Given the description of an element on the screen output the (x, y) to click on. 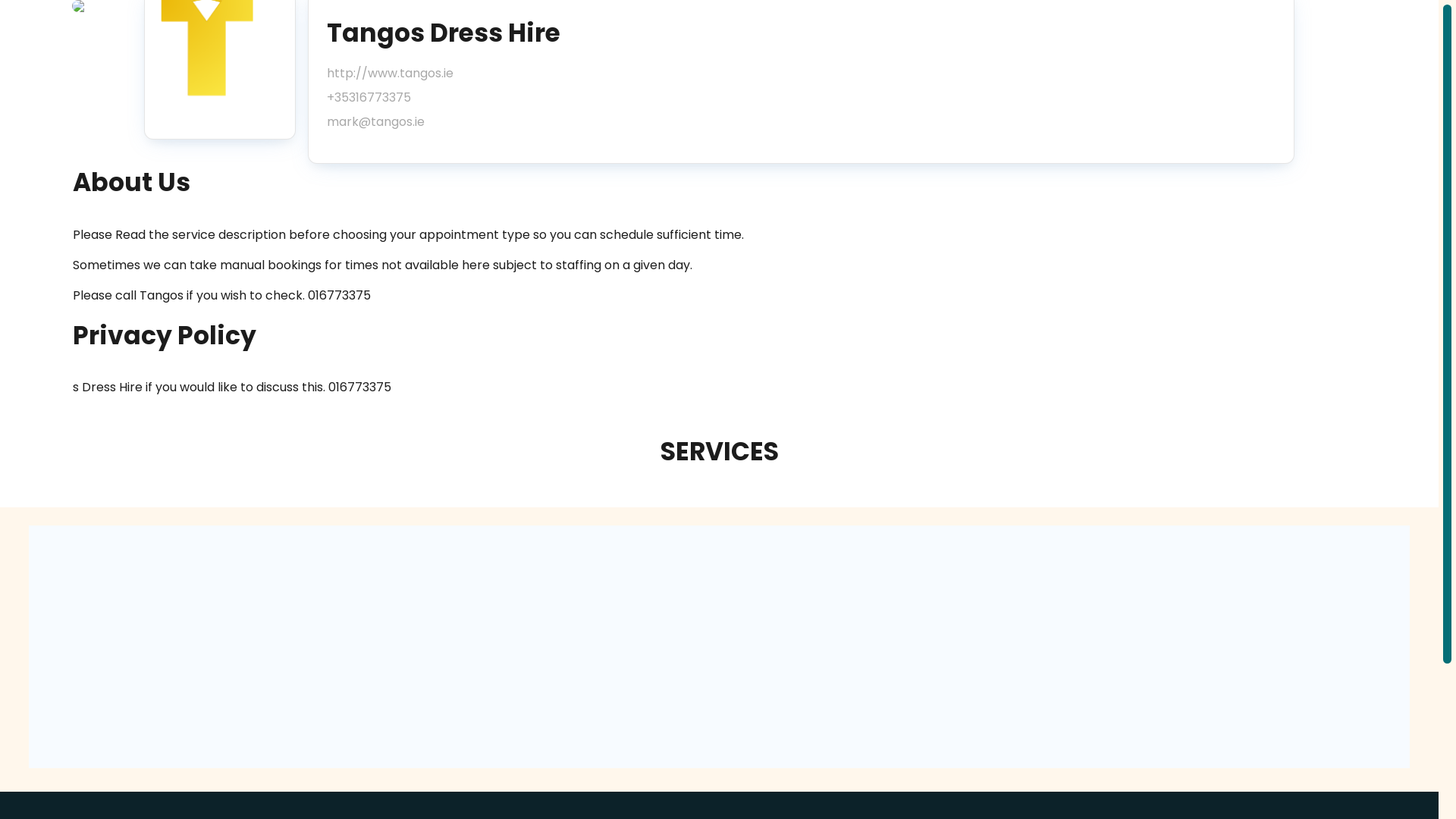
http://www.tangos.ie Element type: text (389, 73)
mark@tangos.ie Element type: text (389, 121)
Booking widget Element type: hover (718, 646)
+35316773375 Element type: text (389, 97)
